Given the description of an element on the screen output the (x, y) to click on. 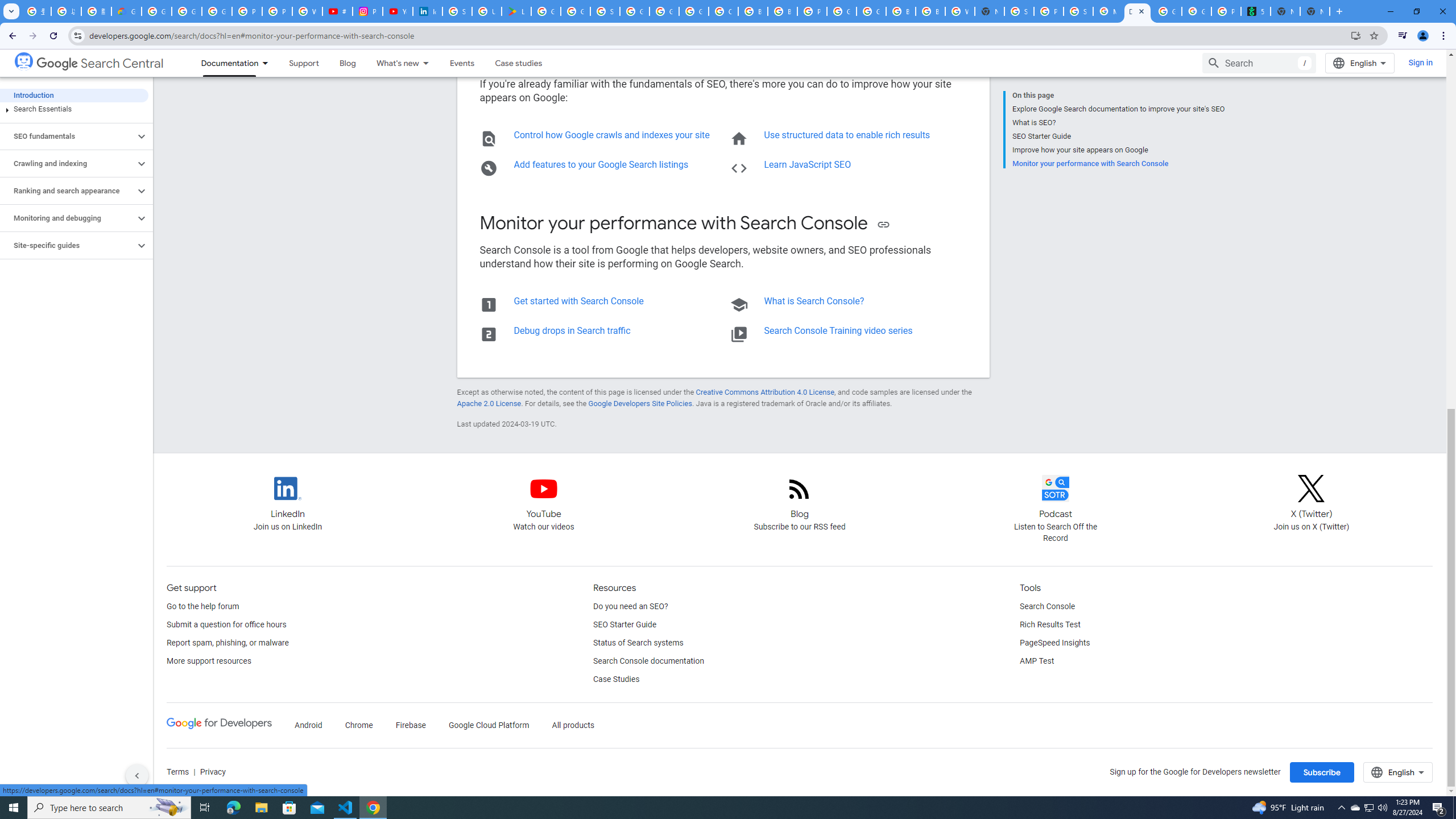
SEO Starter Guide (624, 624)
Use structured data to enable rich results (847, 134)
PageSpeed Insights (1054, 642)
Documentation, selected (224, 62)
Sign in - Google Accounts (1018, 11)
Google Search Central (23, 60)
LinkedIn (287, 488)
Google Cloud Platform (488, 725)
What is SEO? (1117, 122)
Get started with Search Console (578, 300)
